Given the description of an element on the screen output the (x, y) to click on. 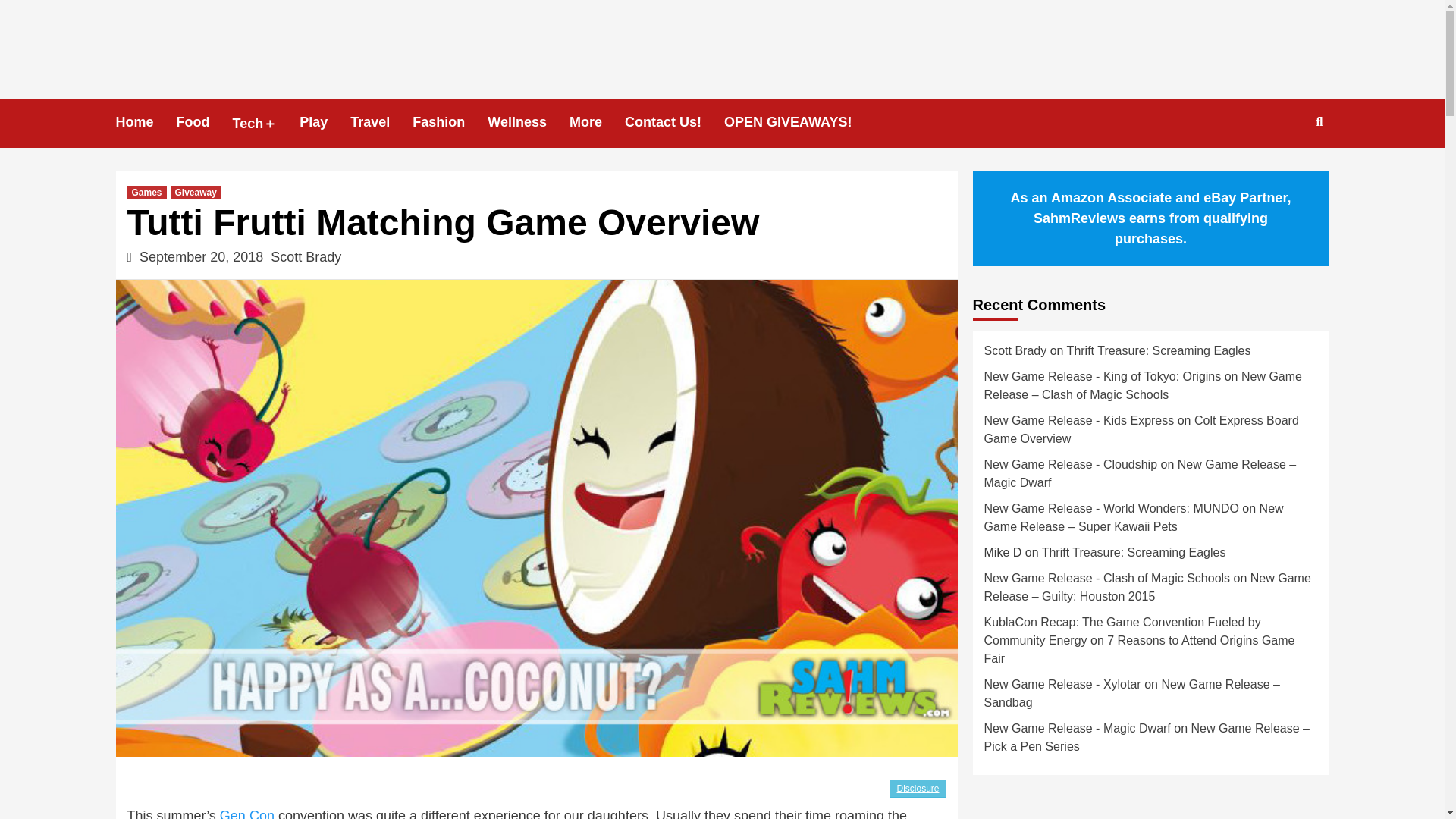
Fashion (449, 122)
Wellness (528, 122)
Food (204, 122)
Play (324, 122)
Travel (381, 122)
Home (145, 122)
More (596, 122)
